Given the description of an element on the screen output the (x, y) to click on. 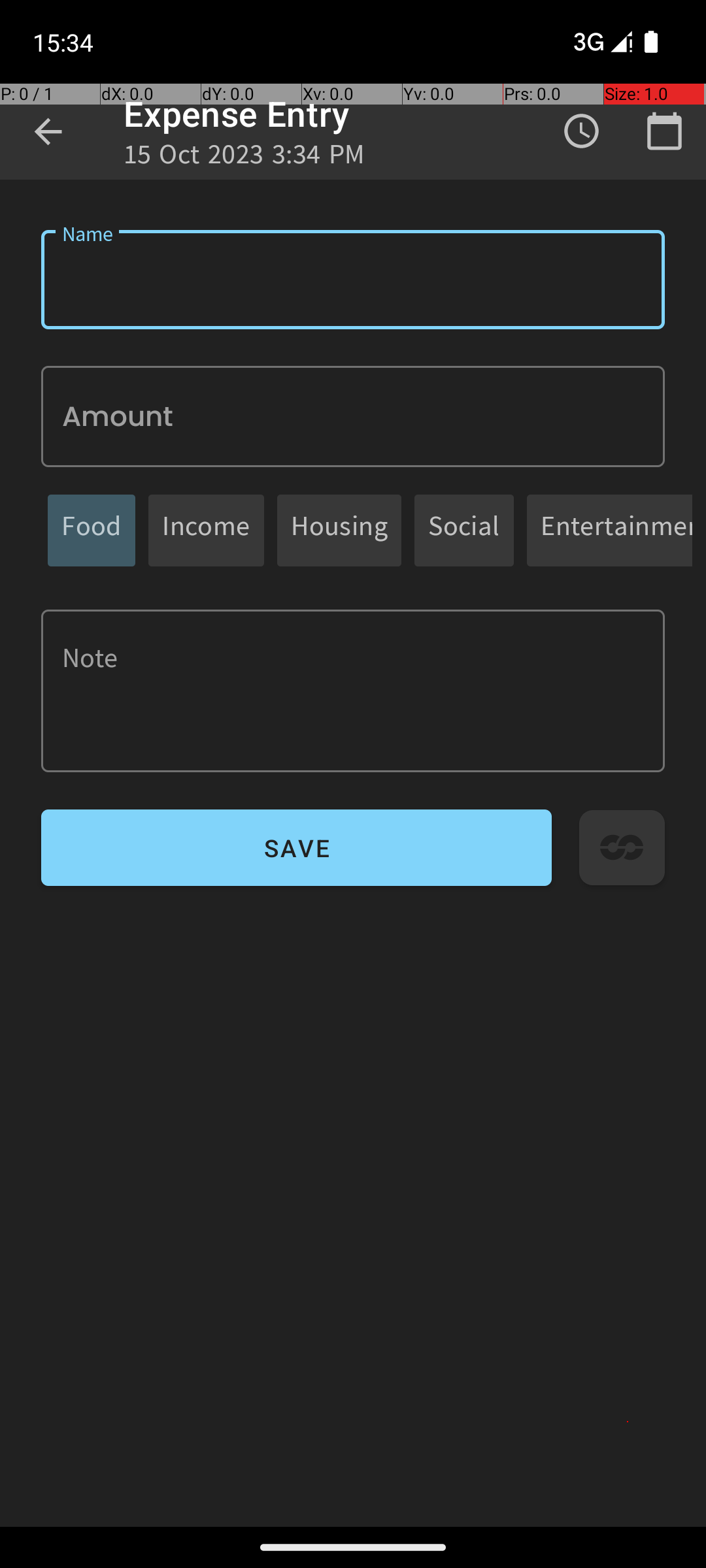
Expense Entry Element type: android.widget.TextView (236, 113)
15 Oct 2023 3:34 PM Element type: android.widget.TextView (244, 157)
Time Element type: android.widget.TextView (580, 131)
Name Element type: android.widget.EditText (352, 279)
SAVE Element type: android.widget.Button (296, 847)
Food Element type: android.widget.TextView (91, 530)
Income Element type: android.widget.TextView (206, 530)
Housing Element type: android.widget.TextView (338, 530)
Social Element type: android.widget.TextView (464, 530)
Entertainment Element type: android.widget.TextView (616, 530)
